Given the description of an element on the screen output the (x, y) to click on. 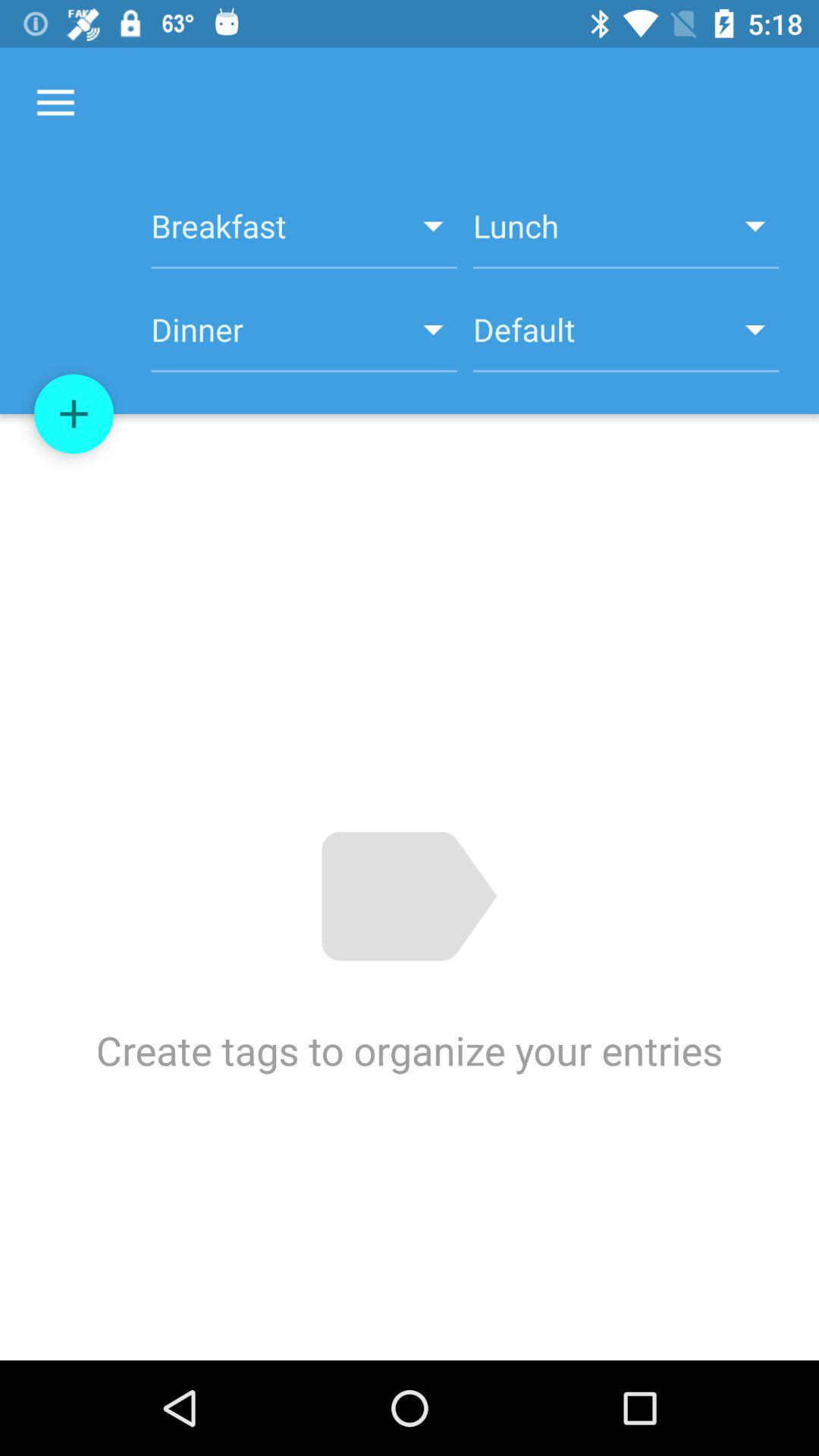
turn off the icon next to the dinner (73, 413)
